Given the description of an element on the screen output the (x, y) to click on. 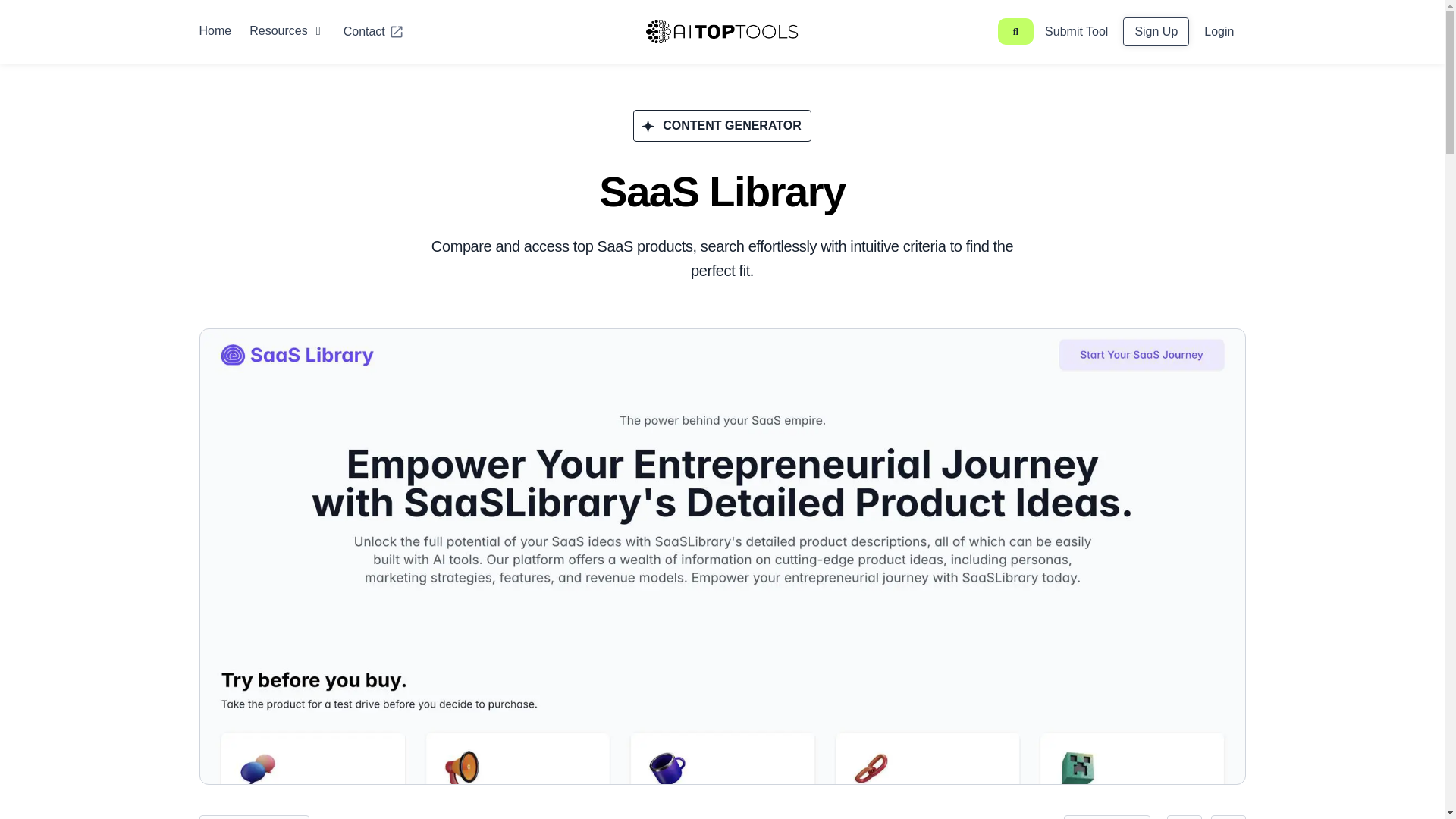
Resources (277, 30)
Home (214, 30)
